Given the description of an element on the screen output the (x, y) to click on. 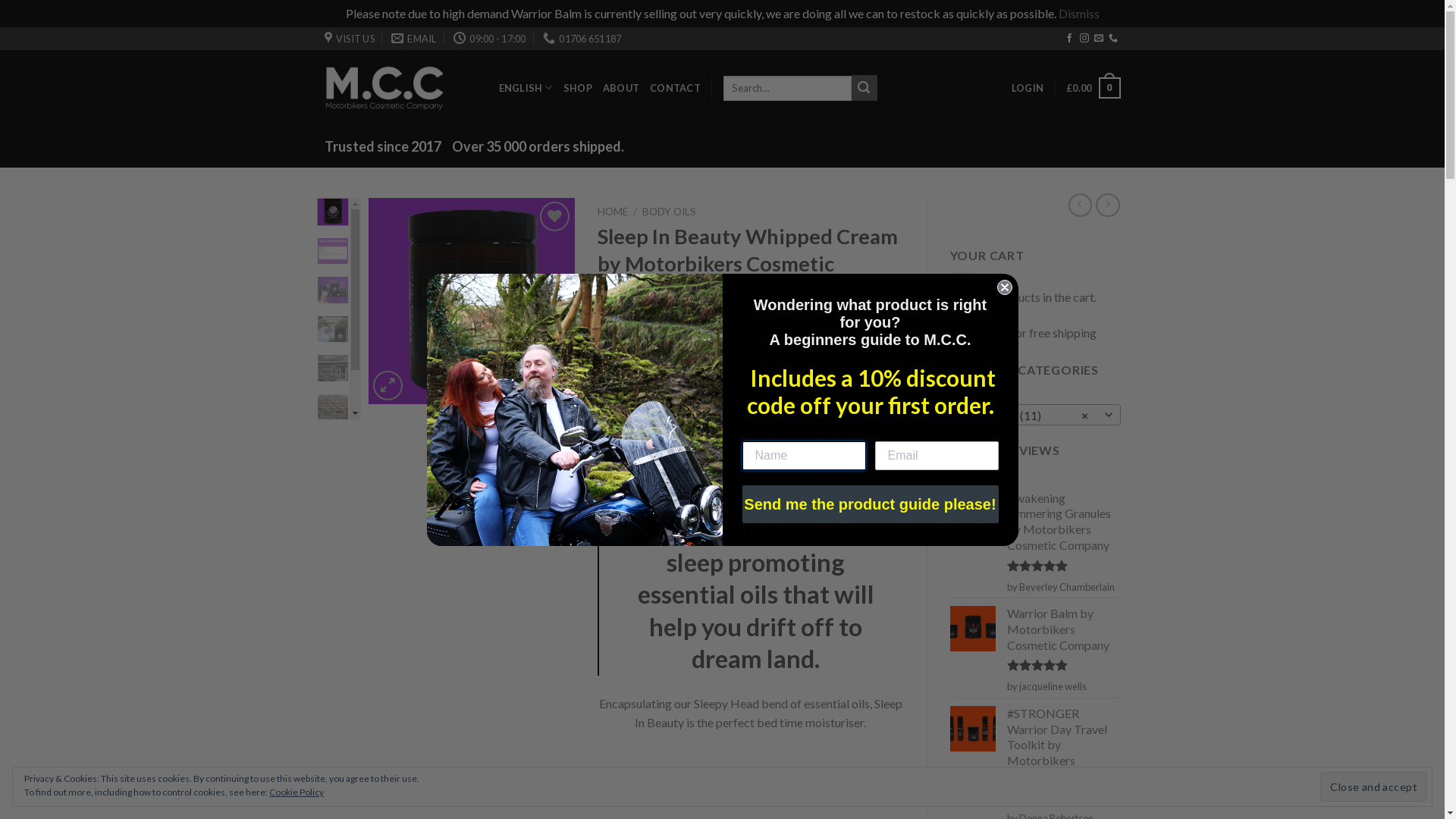
Search Element type: text (864, 87)
Zoom Element type: hover (387, 385)
Dismiss Element type: text (1078, 13)
VISIT US Element type: text (349, 38)
Submit Element type: text (38, 14)
ENGLISH Element type: text (525, 87)
Customer reviews powered by Trustpilot Element type: hover (750, 393)
SHOP Element type: text (577, 87)
Send us an email Element type: hover (1098, 38)
Follow on Facebook Element type: hover (1068, 38)
Cookie Policy Element type: text (296, 791)
ABOUT Element type: text (620, 87)
Send me the product guide please! Element type: text (869, 504)
CONTACT Element type: text (674, 87)
Follow on Instagram Element type: hover (1083, 38)
Warrior Balm by Motorbikers Cosmetic Company Element type: text (1063, 628)
HOME Element type: text (612, 211)
EMAIL Element type: text (413, 38)
Close and accept Element type: text (1373, 786)
BODY OILS Element type: text (669, 211)
Rated out of 5 based on
3
customer ratings Element type: text (750, 335)
Awakening Simmering Granules by Motorbikers Cosmetic Company Element type: text (1063, 521)
01706 651187 Element type: text (581, 38)
LOGIN Element type: text (1027, 87)
Call us Element type: hover (1112, 38)
Blank 2000 x 2000 (2) Element type: hover (471, 300)
us 2000x2000 Element type: hover (265, 300)
09:00 - 17:00 Element type: text (489, 38)
